Given the description of an element on the screen output the (x, y) to click on. 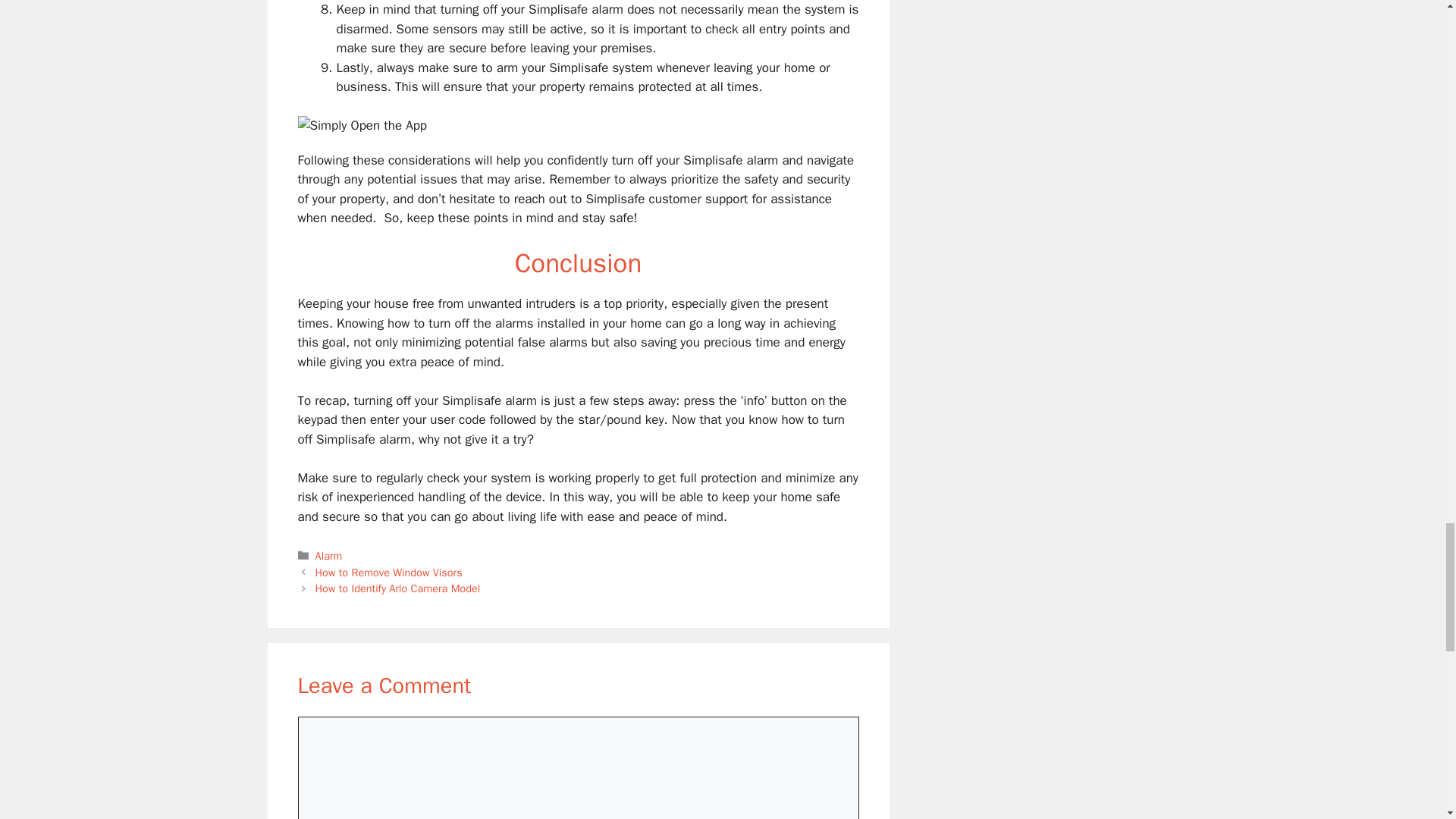
Alarm (328, 555)
How to Identify Arlo Camera Model (397, 588)
How to Remove Window Visors (389, 572)
